Given the description of an element on the screen output the (x, y) to click on. 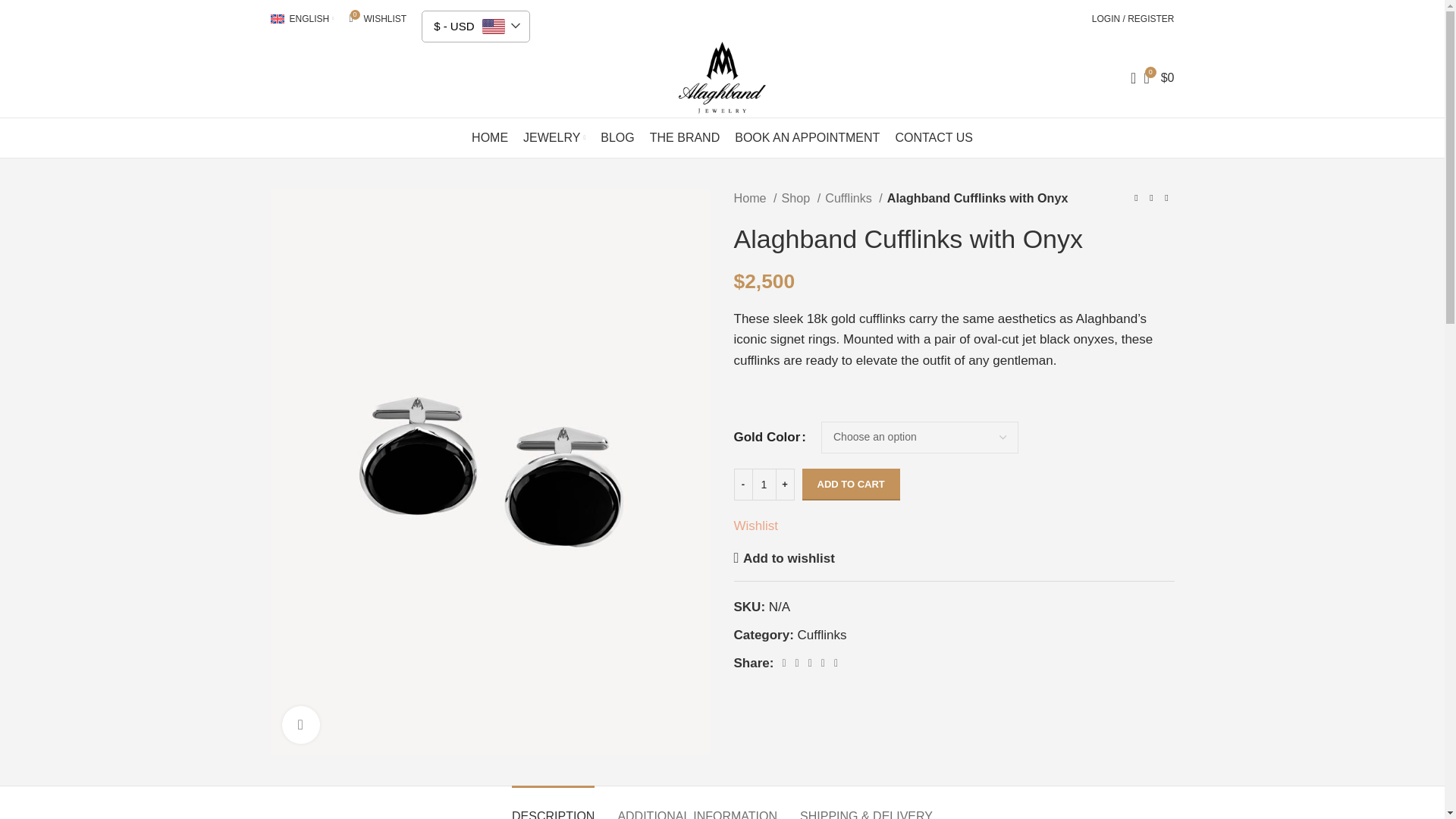
My Wishlist (376, 19)
ENGLISH (301, 19)
THE BRAND (684, 137)
BLOG (616, 137)
Shopping cart (1157, 77)
HOME (489, 137)
My account (376, 19)
JEWELRY (1133, 19)
